Given the description of an element on the screen output the (x, y) to click on. 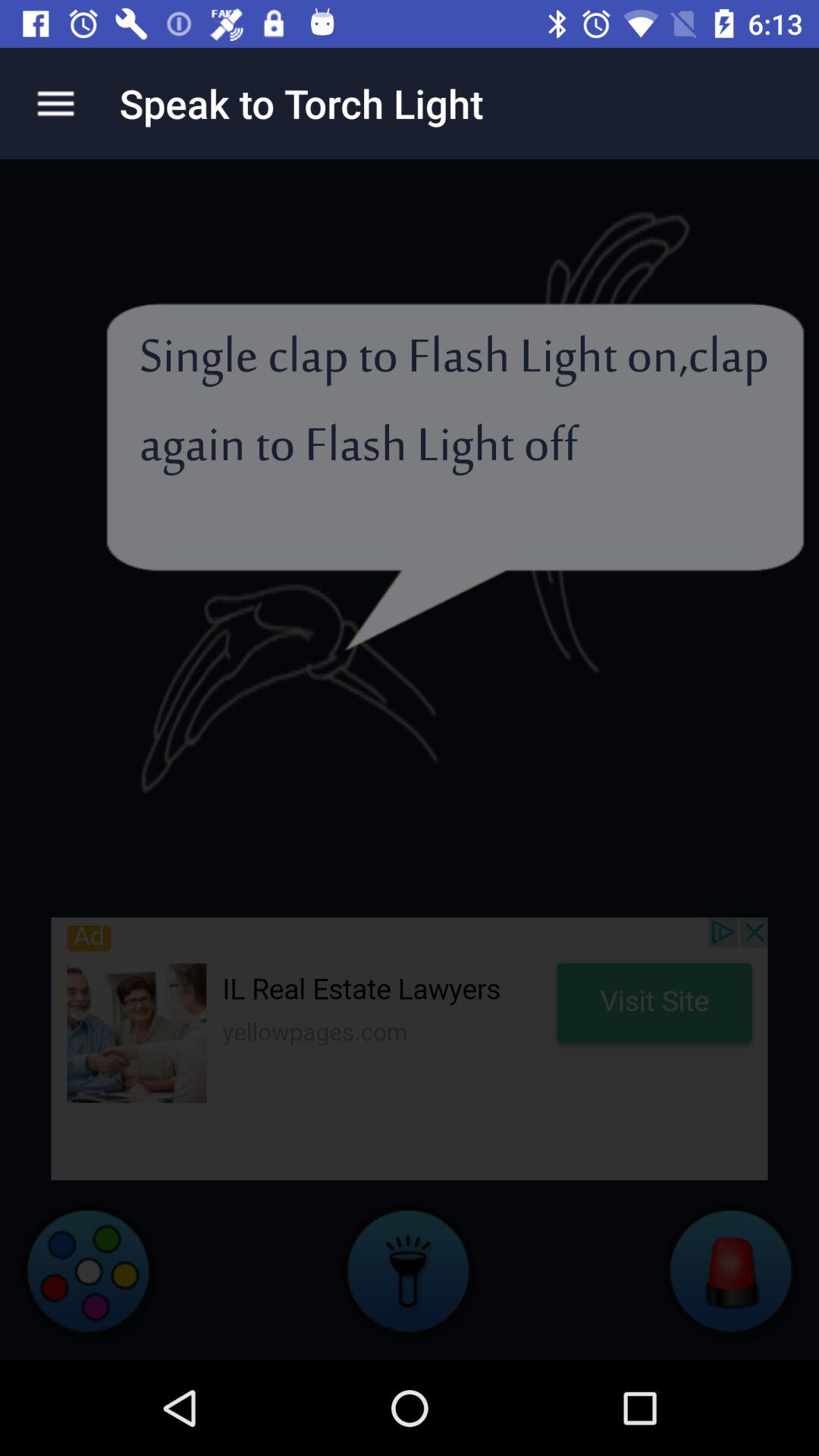
open advertisement (409, 1048)
